Given the description of an element on the screen output the (x, y) to click on. 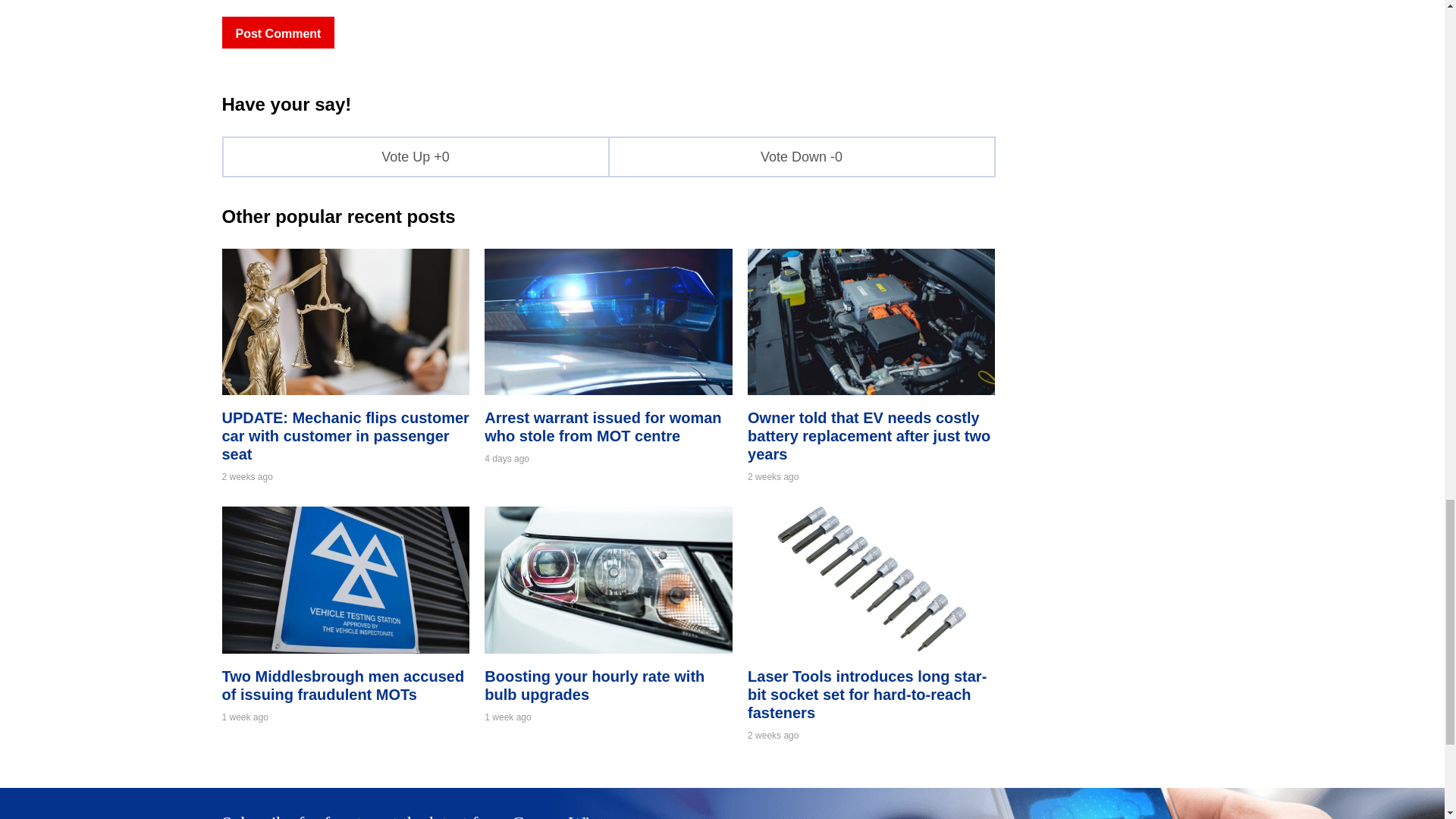
Two Middlesbrough men accused of issuing fraudulent MOTs (344, 648)
Two Middlesbrough men accused of issuing fraudulent MOTs (342, 685)
Arrest warrant issued for woman who stole from MOT centre (602, 426)
Arrest warrant issued for woman who stole from MOT centre (608, 390)
Boosting your hourly rate with bulb upgrades (594, 685)
